Given the description of an element on the screen output the (x, y) to click on. 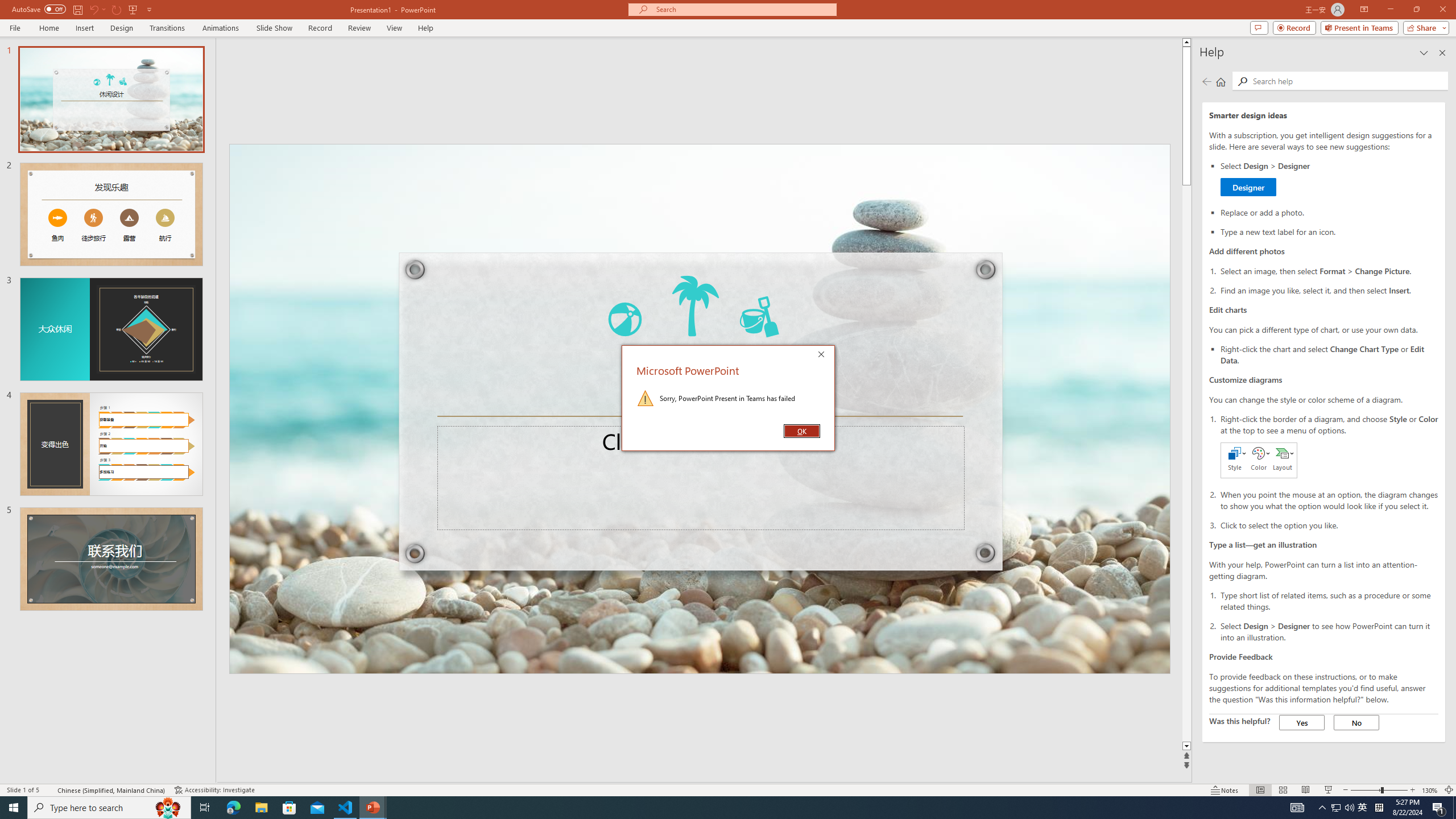
Type a new text label for an icon. (1329, 231)
Previous page (1206, 81)
PowerPoint - 2 running windows (373, 807)
